Given the description of an element on the screen output the (x, y) to click on. 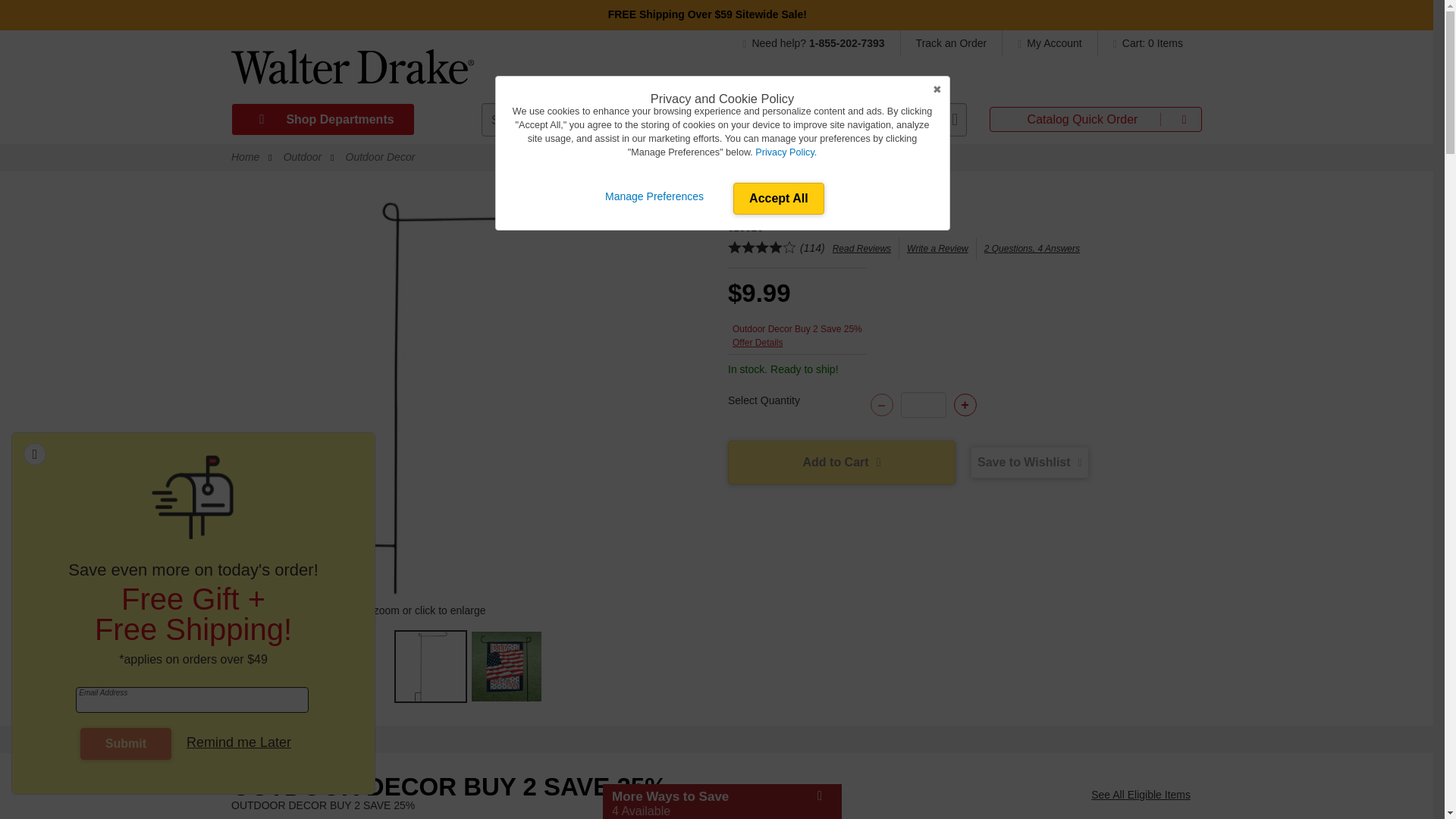
My Account (1050, 43)
Cart: 0 Items (1144, 43)
Star Rating: 4 (762, 249)
Increase (964, 404)
Need help? 1-855-202-7393 (820, 43)
Decrease (881, 404)
Homepage Link (351, 72)
Review Count: 114 (812, 247)
Track an Order (952, 43)
Item Quantity: 1 (923, 404)
Shop Departments  (322, 119)
